Given the description of an element on the screen output the (x, y) to click on. 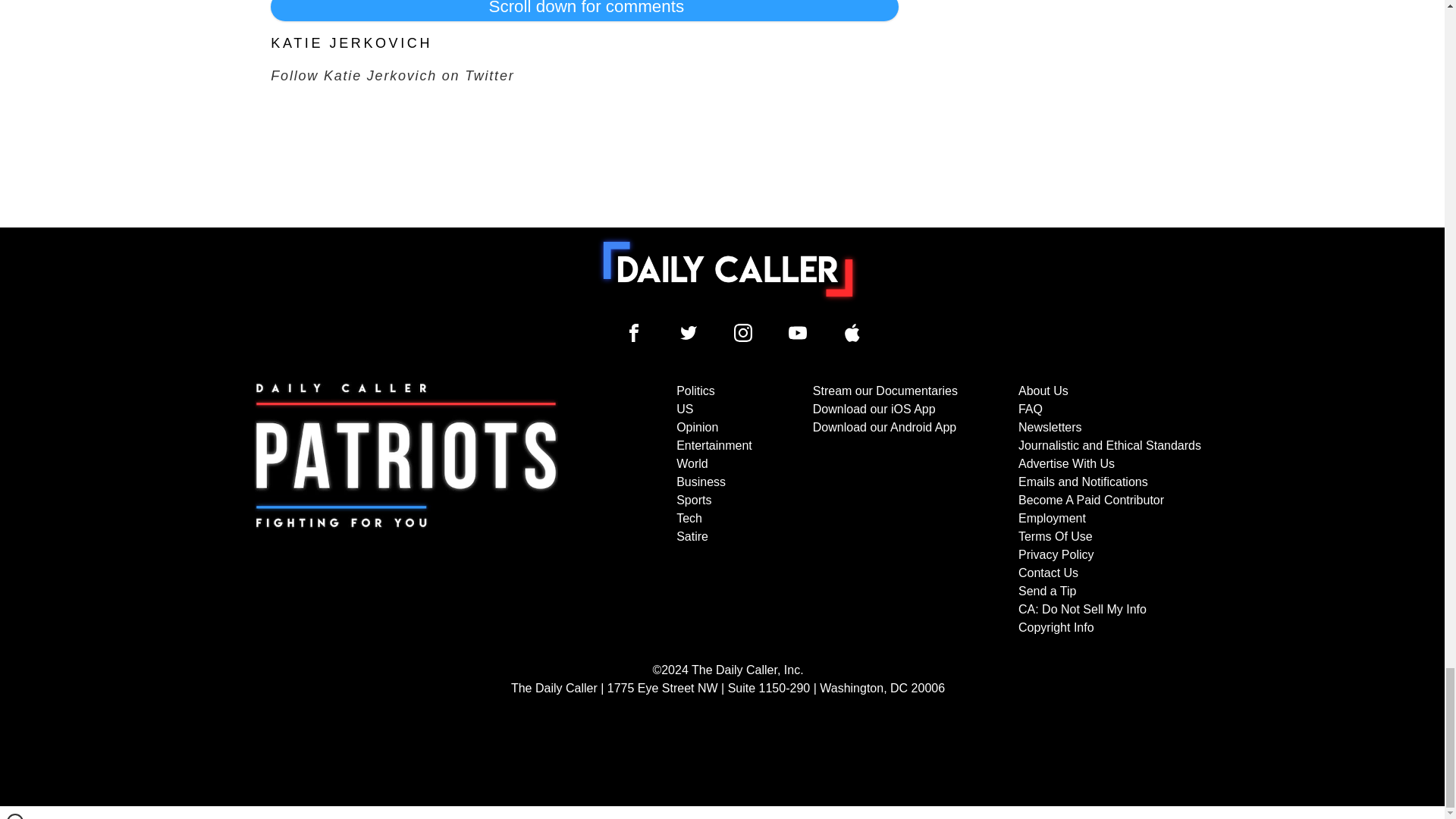
Daily Caller YouTube (797, 332)
Daily Caller Facebook (633, 332)
Daily Caller YouTube (852, 332)
Scroll down for comments (584, 10)
Daily Caller Twitter (688, 332)
Daily Caller Instagram (742, 332)
Subscribe to The Daily Caller (405, 509)
To home page (727, 268)
